Given the description of an element on the screen output the (x, y) to click on. 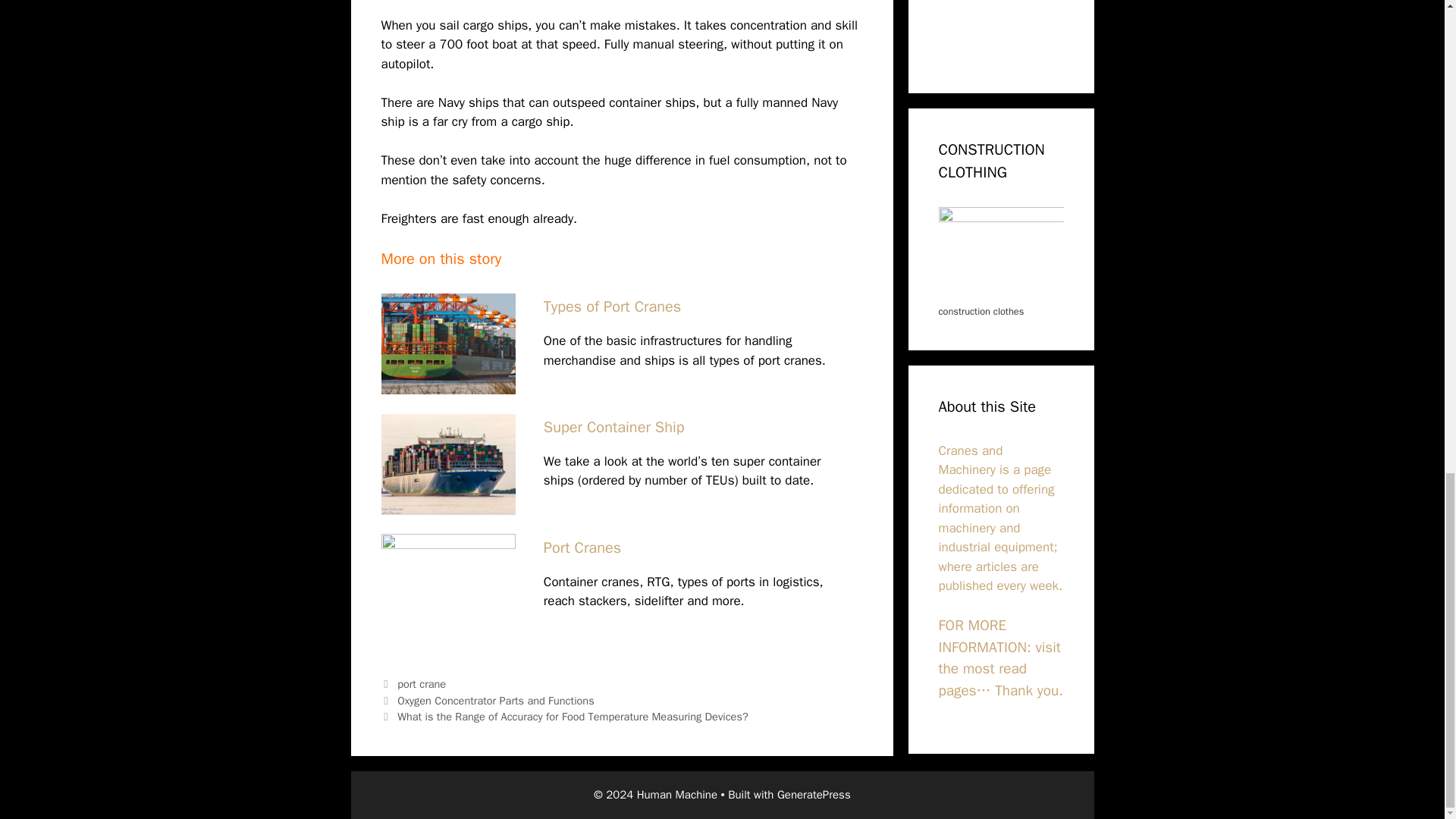
GeneratePress (813, 794)
Port Cranes (582, 547)
Types of Port Cranes (612, 306)
Scroll back to top (1406, 408)
Oxygen Concentrator Parts and Functions (495, 700)
Super Container Ship (613, 426)
port crane (421, 684)
